Given the description of an element on the screen output the (x, y) to click on. 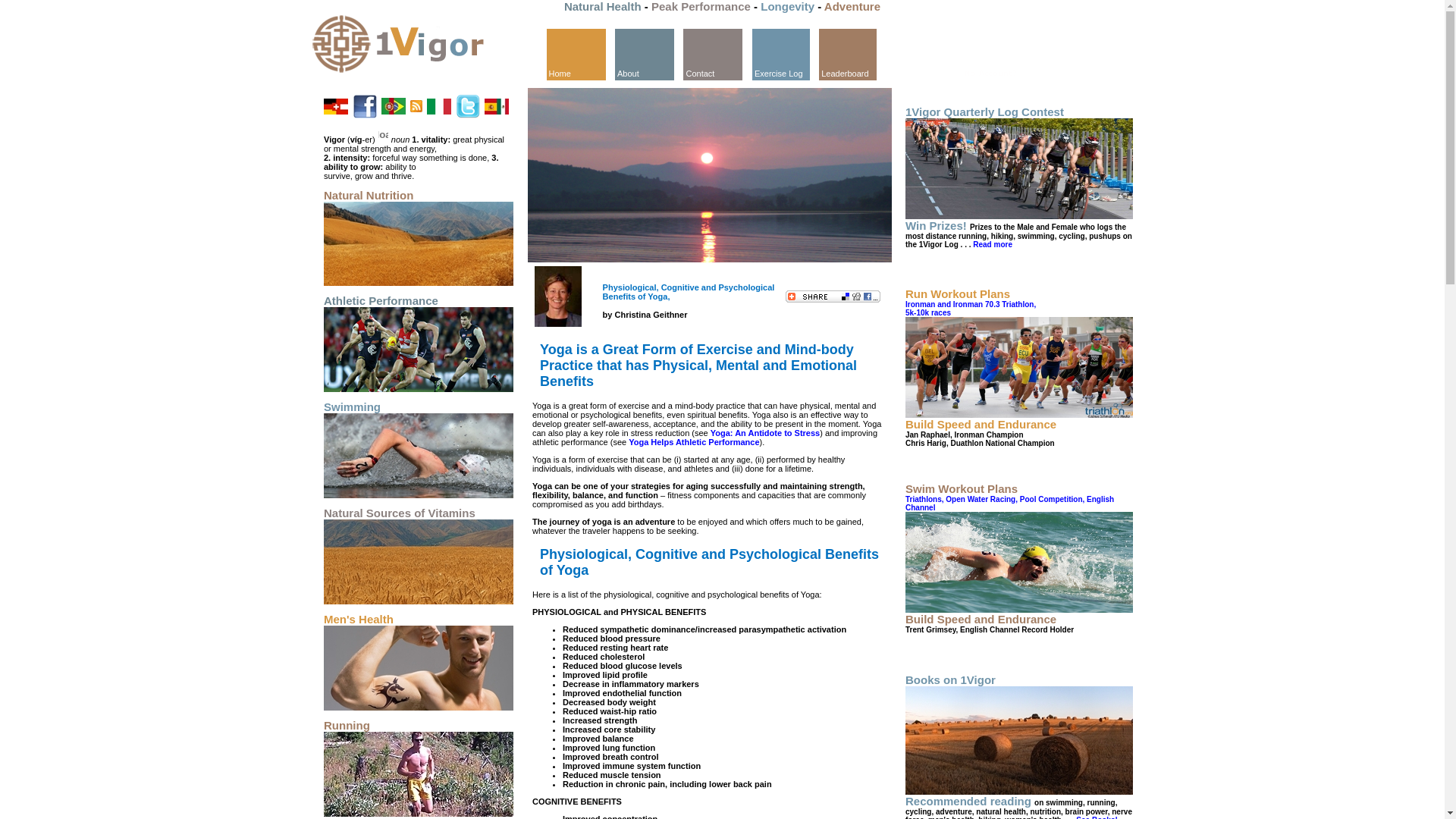
Read more Element type: text (990, 243)
About Element type: text (644, 54)
Yoga Helps Athletic Performance Element type: text (693, 441)
Home Element type: text (575, 53)
About Element type: text (644, 53)
2008 ITU Duathlon World Championship in Rimini, Italy Element type: hover (1018, 366)
Exercise Log Element type: text (780, 54)
Home Element type: text (575, 54)
Leaderboard Element type: text (847, 54)
Contact Element type: text (712, 54)
Contact Element type: text (712, 53)
Yoga: An Antidote to Stress Element type: text (764, 432)
Ironman and Ironman 70.3 Triathlon,
5k-10k races Element type: text (970, 308)
Exercise Log Element type: text (780, 53)
Leaderboard Element type: text (847, 53)
